Given the description of an element on the screen output the (x, y) to click on. 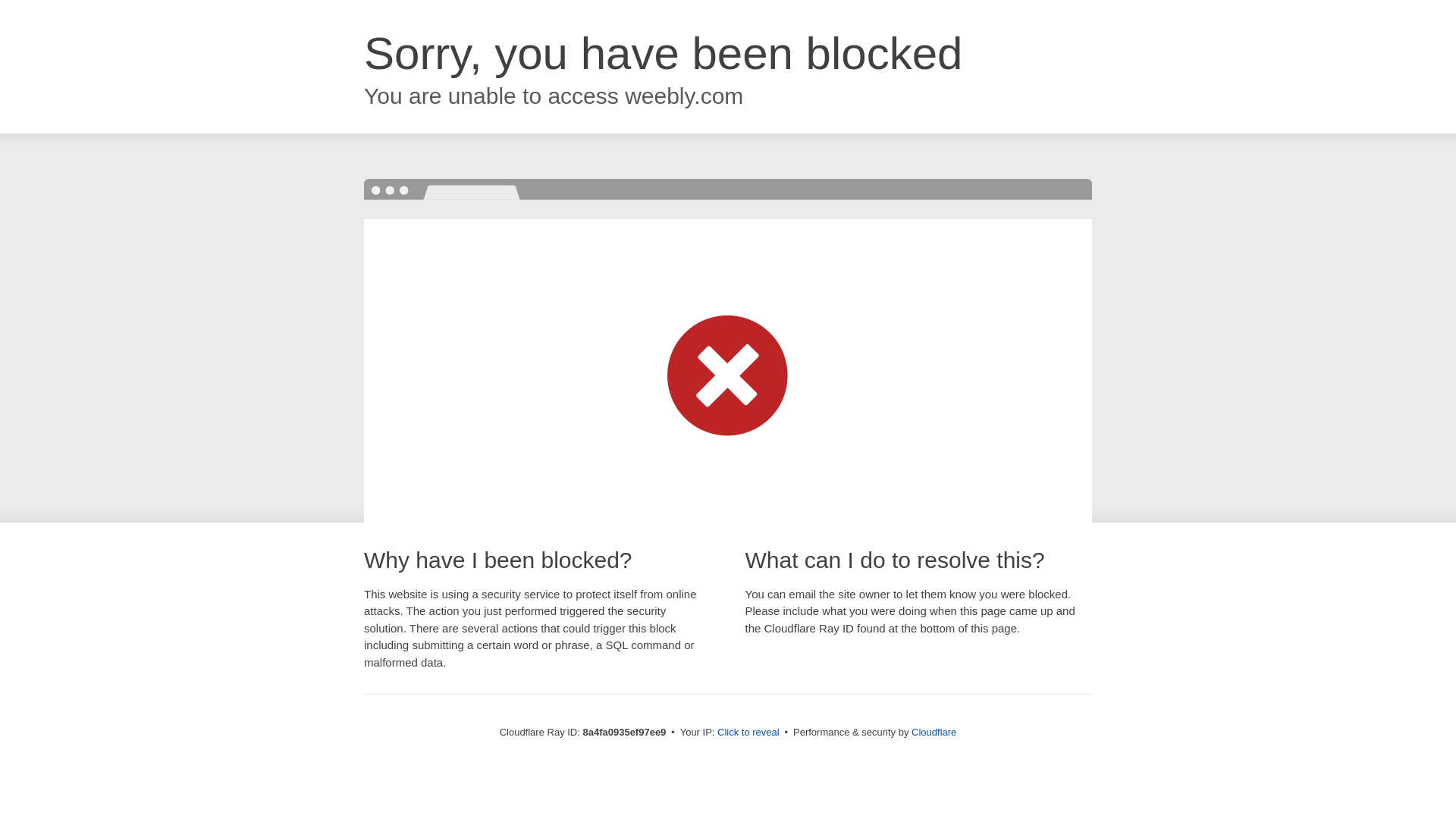
Click to reveal (747, 732)
Cloudflare (933, 731)
